Given the description of an element on the screen output the (x, y) to click on. 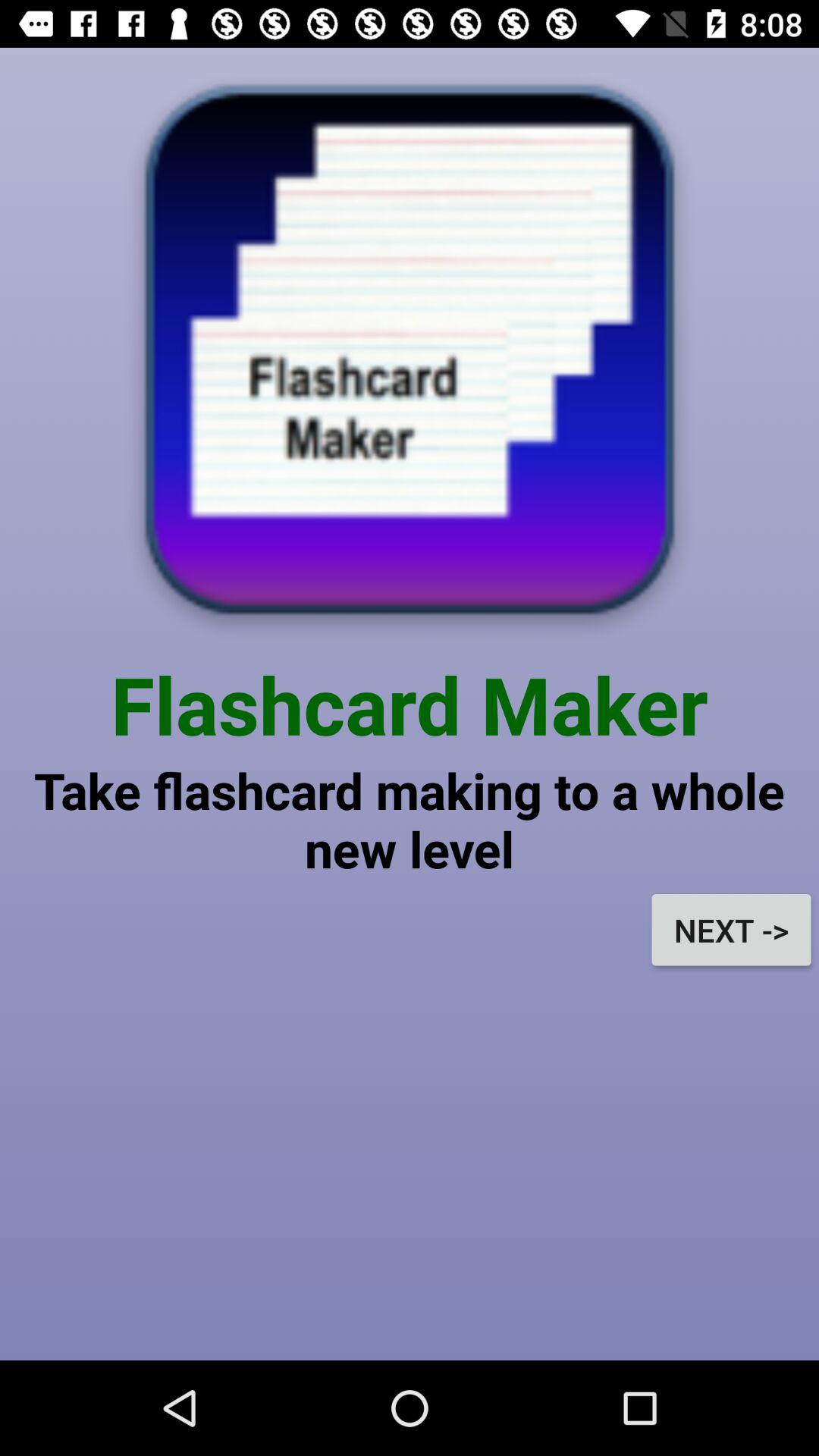
turn on app below take flashcard making item (731, 929)
